Given the description of an element on the screen output the (x, y) to click on. 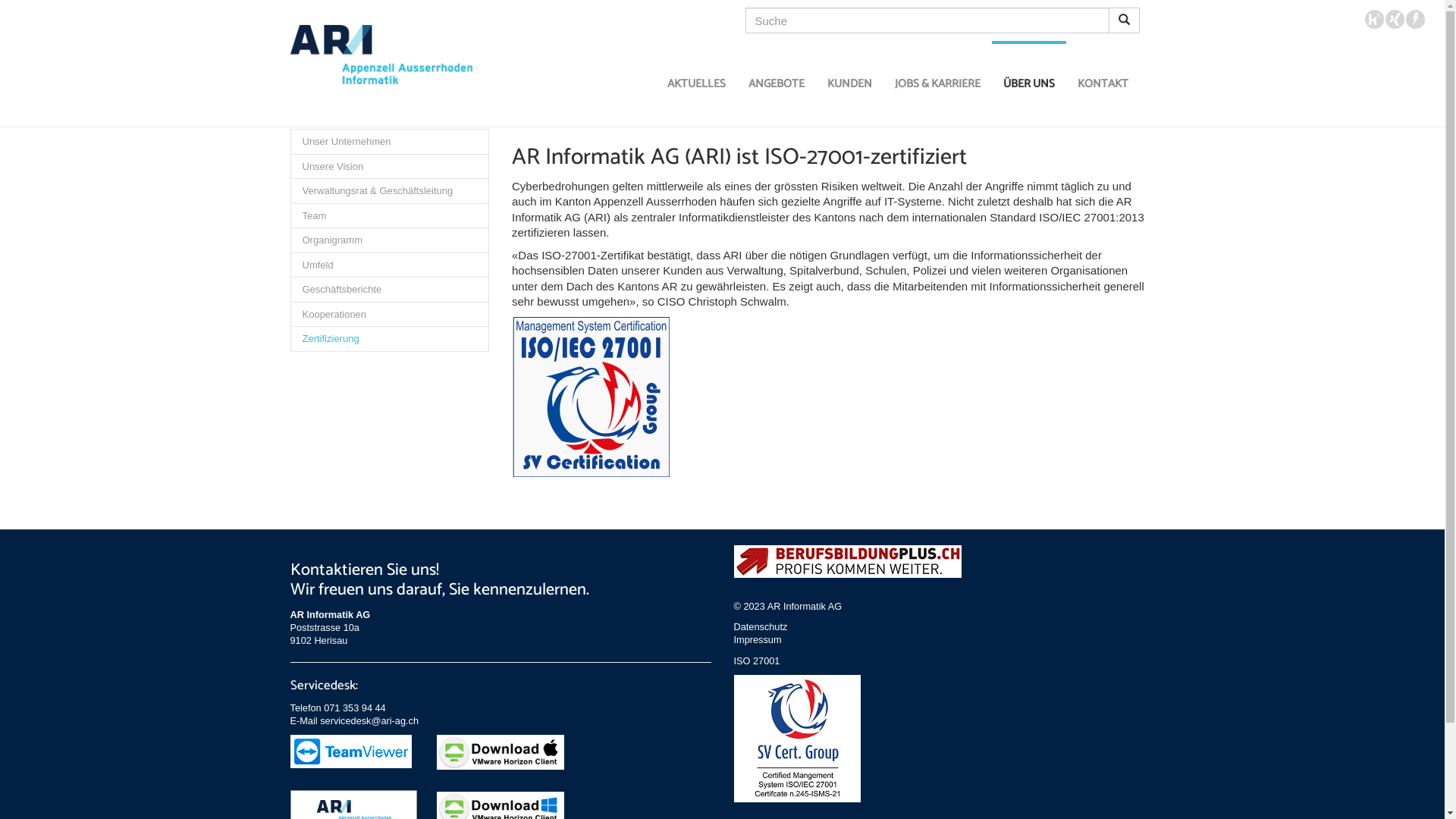
Datenschutz Element type: text (760, 626)
ARI bei IT Rockt Element type: hover (1415, 18)
Unser Unternehmen Element type: text (389, 141)
Impressum Element type: text (757, 639)
KONTAKT Element type: text (1102, 83)
Team Element type: text (389, 216)
ANGEBOTE Element type: text (776, 83)
Zertifizierung Element type: text (389, 338)
servicedesk@ari-ag.ch Element type: text (369, 720)
TeamViewer verwenden Element type: hover (353, 751)
Umfeld Element type: text (389, 265)
ISO 27001 Element type: text (757, 660)
Organigramm Element type: text (389, 240)
Unsere Vision Element type: text (389, 166)
Download VMware Horizon Client Mac Element type: hover (500, 751)
Kooperationen Element type: text (389, 314)
ARI bei Kununu Element type: hover (1374, 18)
ARI bei XING Element type: hover (1394, 18)
TeamViewer verwenden Element type: hover (350, 751)
JOBS & KARRIERE Element type: text (936, 83)
KUNDEN Element type: text (849, 83)
AKTUELLES Element type: text (695, 83)
